Given the description of an element on the screen output the (x, y) to click on. 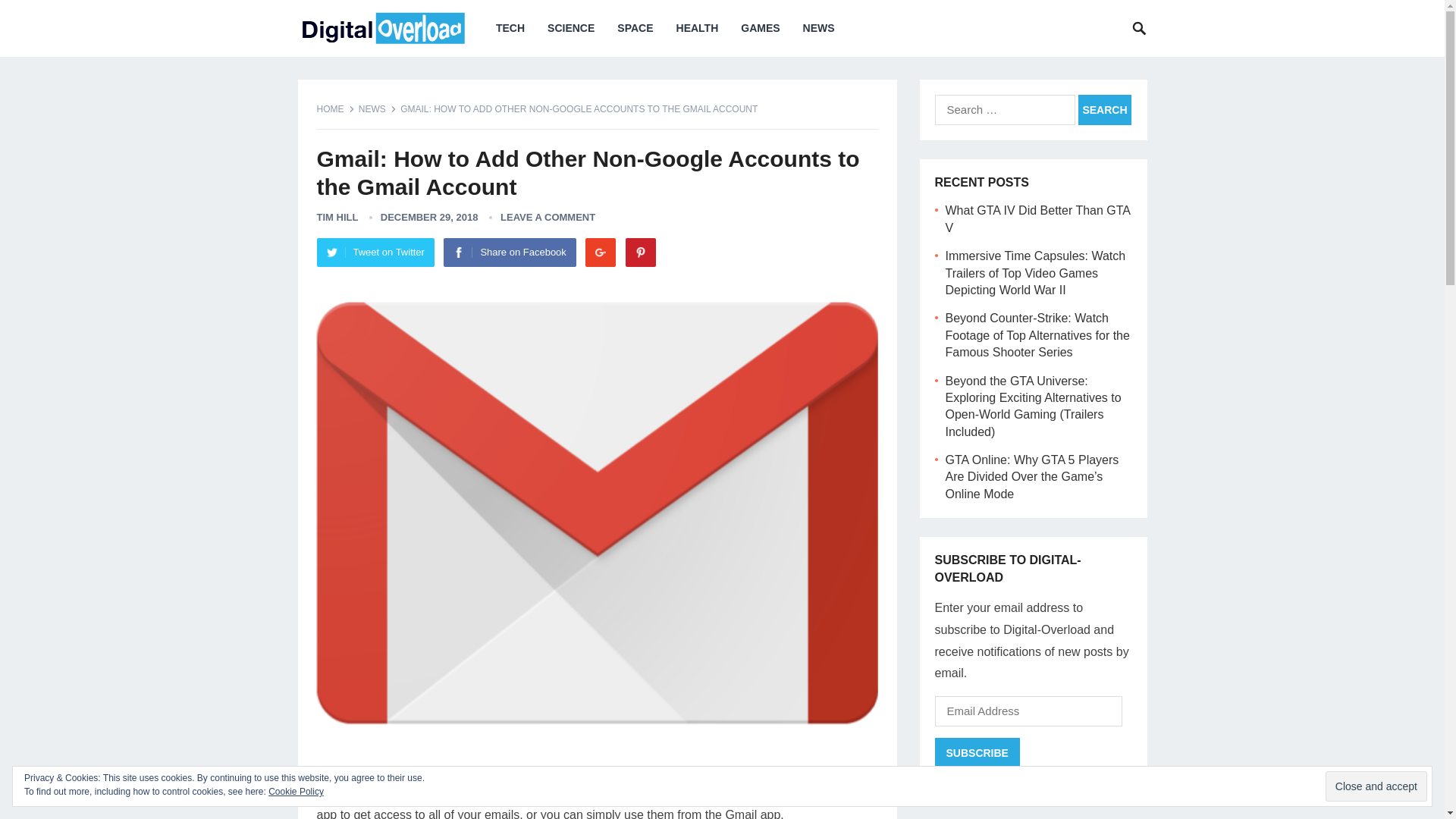
SCIENCE (570, 28)
TECH (509, 28)
NEWS (818, 28)
GAMES (759, 28)
TIM HILL (337, 216)
Share on Facebook (509, 252)
Pinterest (641, 252)
Search (1104, 110)
HOME (336, 109)
LEAVE A COMMENT (547, 216)
SPACE (634, 28)
Search (1104, 110)
NEWS (377, 109)
View all posts in News (377, 109)
Posts by Tim Hill (337, 216)
